Given the description of an element on the screen output the (x, y) to click on. 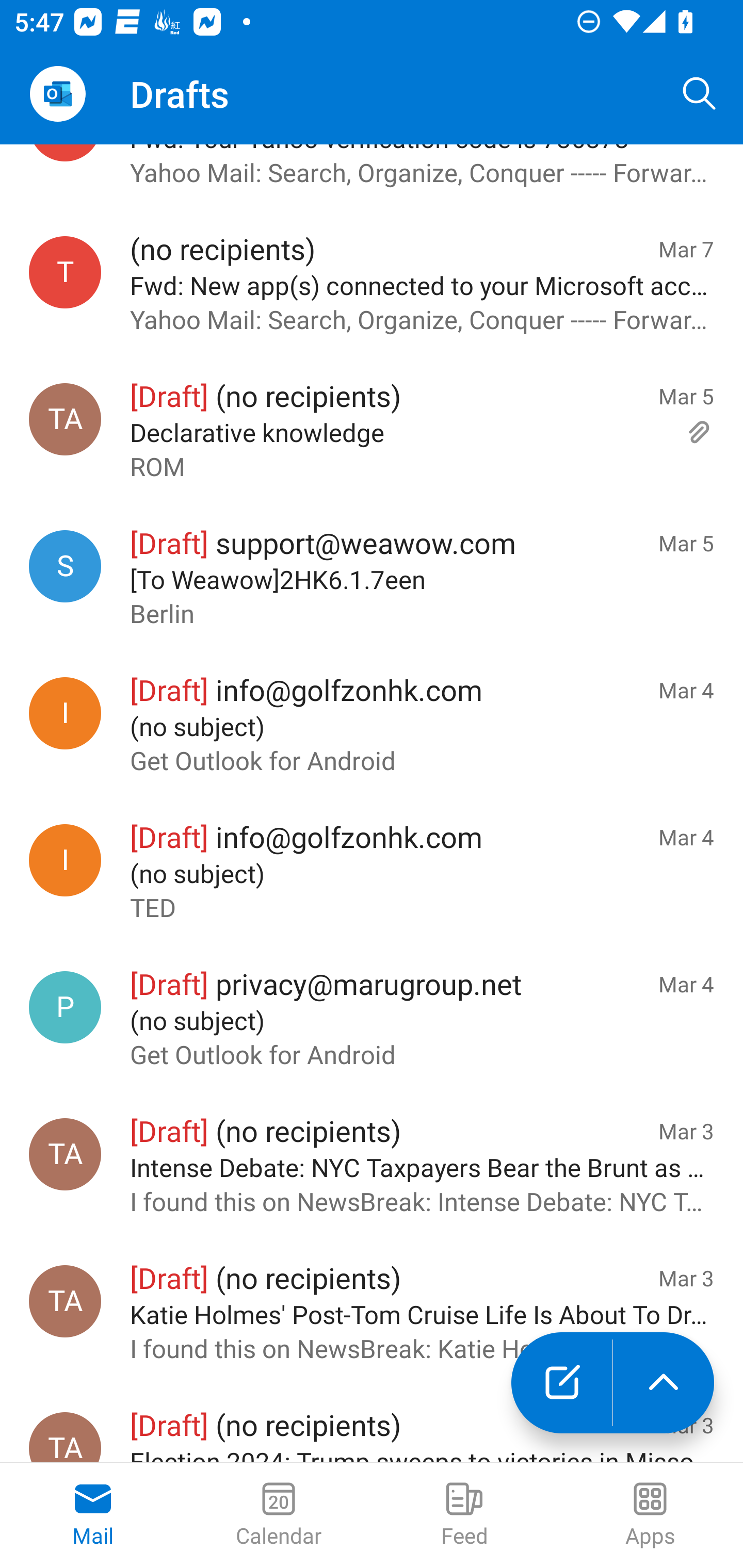
Search, ,  (699, 93)
Open Navigation Drawer (57, 94)
testappium002@outlook.com (64, 272)
Test Appium, testappium002@outlook.com (64, 418)
support@weawow.com (64, 565)
info@golfzonhk.com (64, 713)
info@golfzonhk.com (64, 860)
privacy@marugroup.net (64, 1006)
Test Appium, testappium002@outlook.com (64, 1153)
Test Appium, testappium002@outlook.com (64, 1301)
New mail (561, 1382)
launch the extended action menu (663, 1382)
Test Appium, testappium002@outlook.com (64, 1437)
Calendar (278, 1515)
Feed (464, 1515)
Apps (650, 1515)
